Given the description of an element on the screen output the (x, y) to click on. 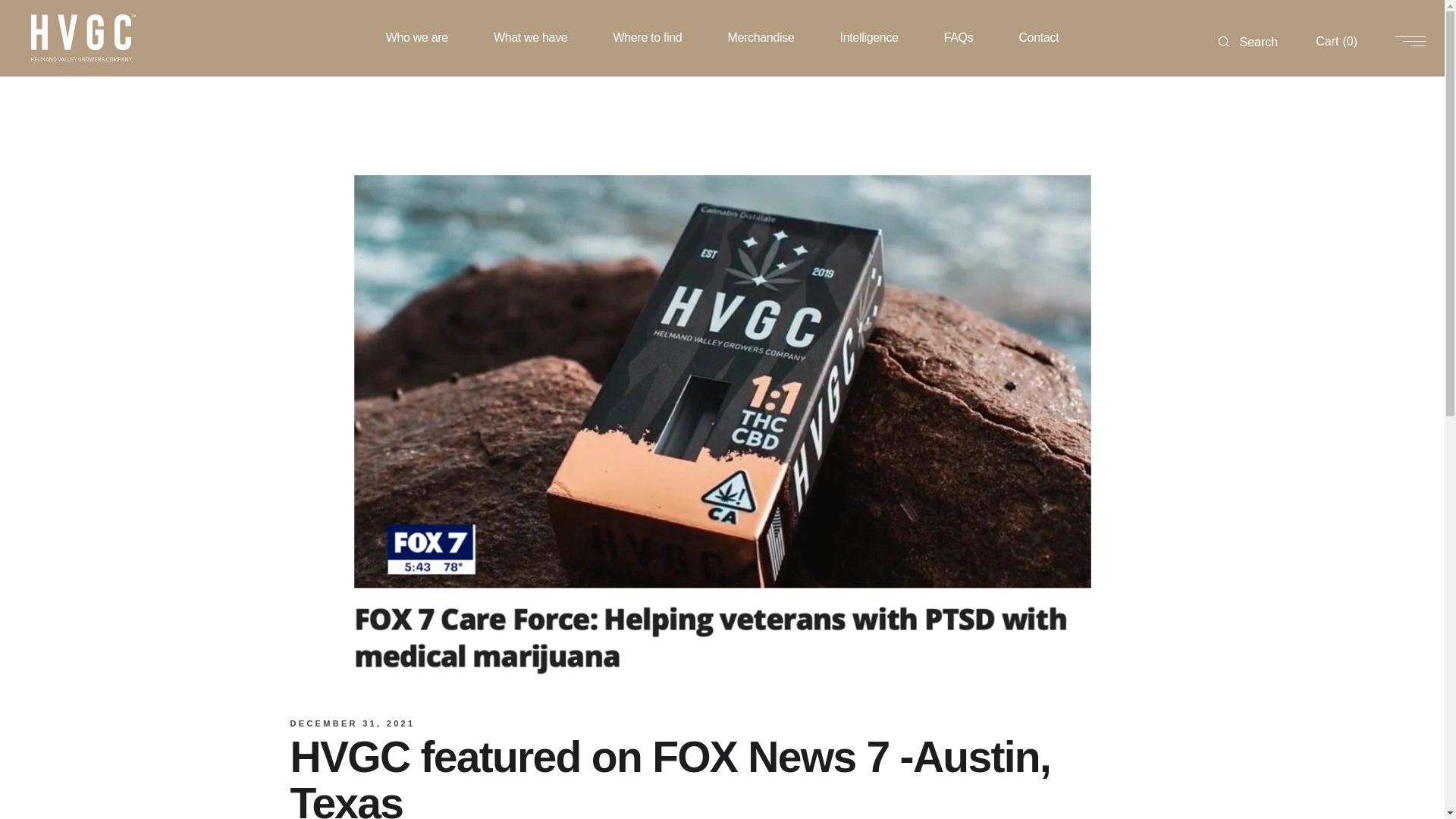
Who we are (416, 38)
What we have (530, 38)
Search (1248, 38)
Where to find (646, 38)
FAQs (958, 38)
Contact (1038, 38)
Intelligence (868, 38)
Merchandise (760, 38)
